Given the description of an element on the screen output the (x, y) to click on. 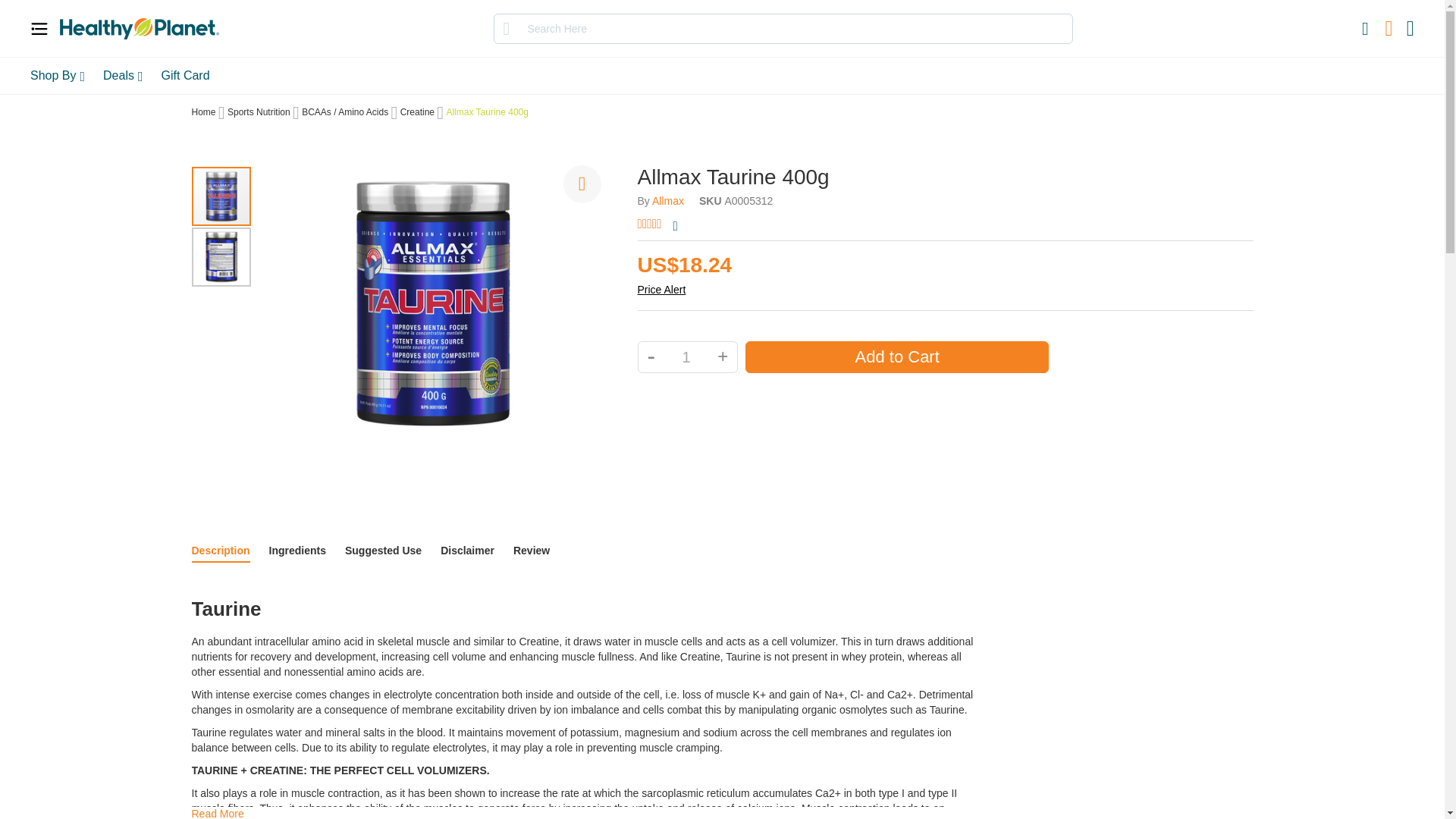
Creatine (416, 112)
Healthy Planet (139, 28)
Add to Cart (896, 357)
Price Alert (661, 289)
1 (685, 357)
Sports Nutrition (258, 112)
Qty (685, 357)
Go to Home Page (202, 112)
